Given the description of an element on the screen output the (x, y) to click on. 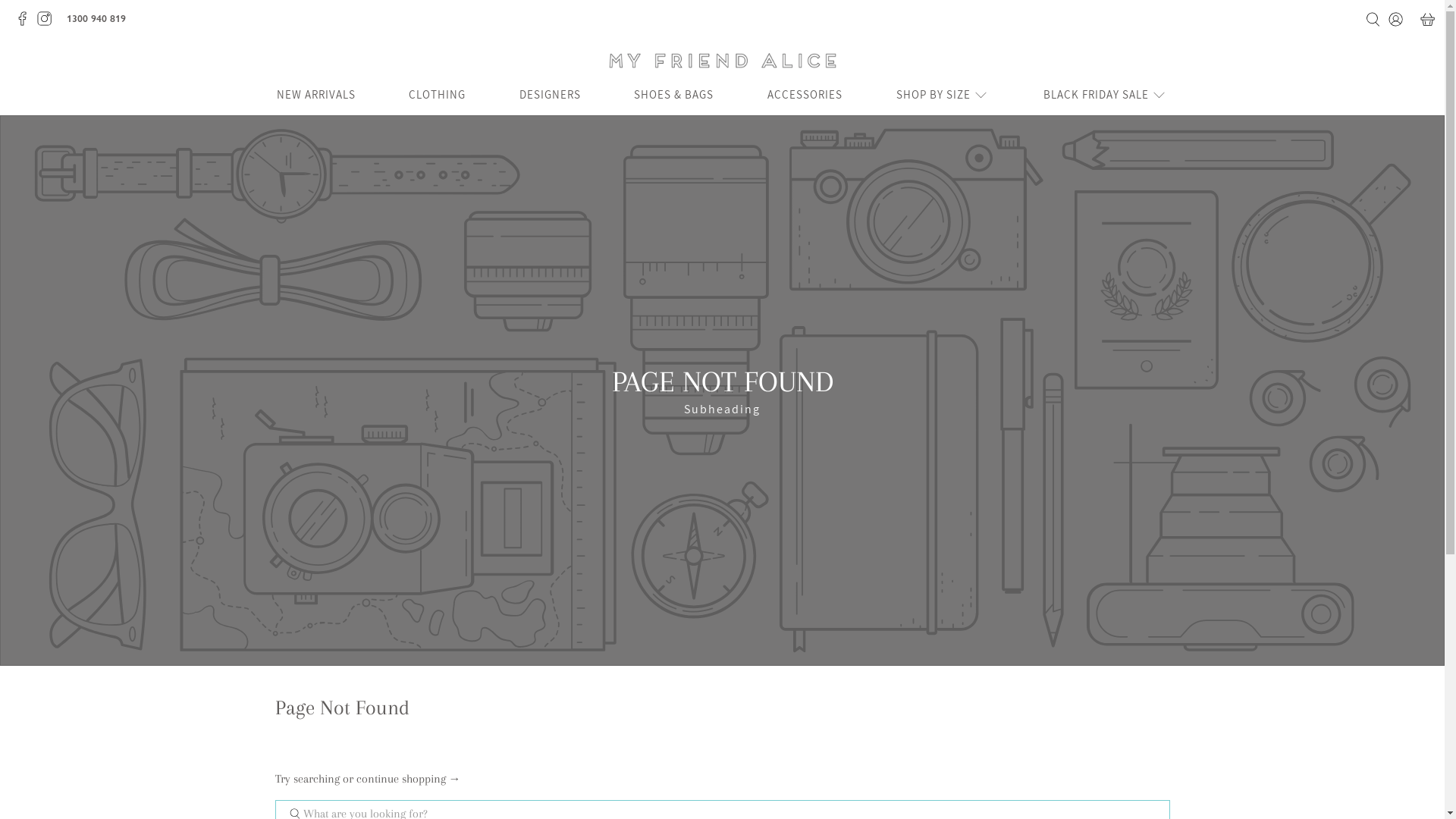
BLACK FRIDAY SALE Element type: text (1105, 95)
My Friend Alice Element type: hover (721, 60)
ACCESSORIES Element type: text (804, 95)
SHOP BY SIZE Element type: text (943, 95)
My Friend Alice on Facebook Element type: hover (26, 22)
CLOTHING Element type: text (436, 95)
DESIGNERS Element type: text (549, 95)
NEW ARRIVALS Element type: text (315, 95)
SHOES & BAGS Element type: text (673, 95)
My Friend Alice on Instagram Element type: hover (48, 22)
